Given the description of an element on the screen output the (x, y) to click on. 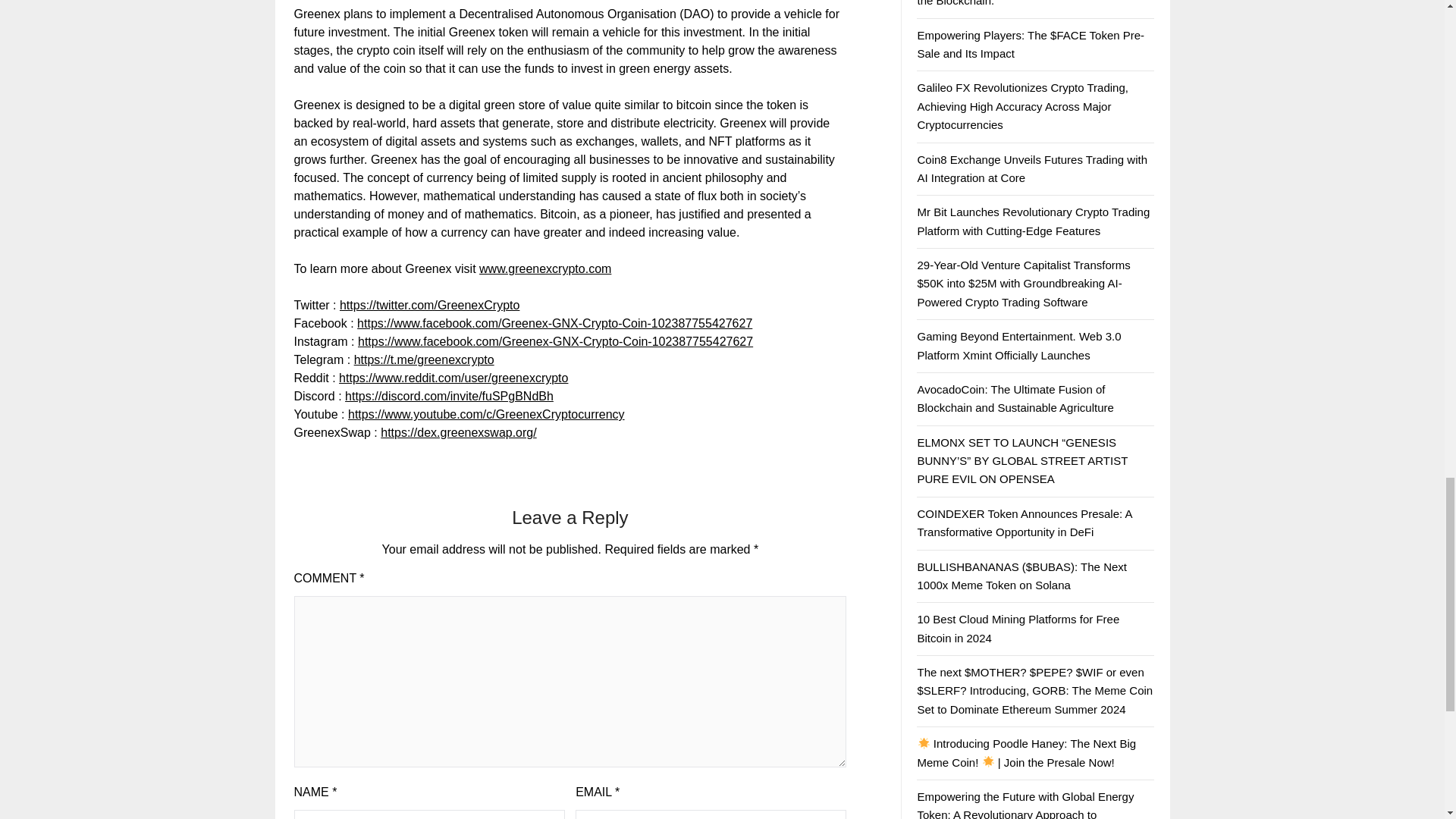
www.greenexcrypto.com (545, 268)
